Given the description of an element on the screen output the (x, y) to click on. 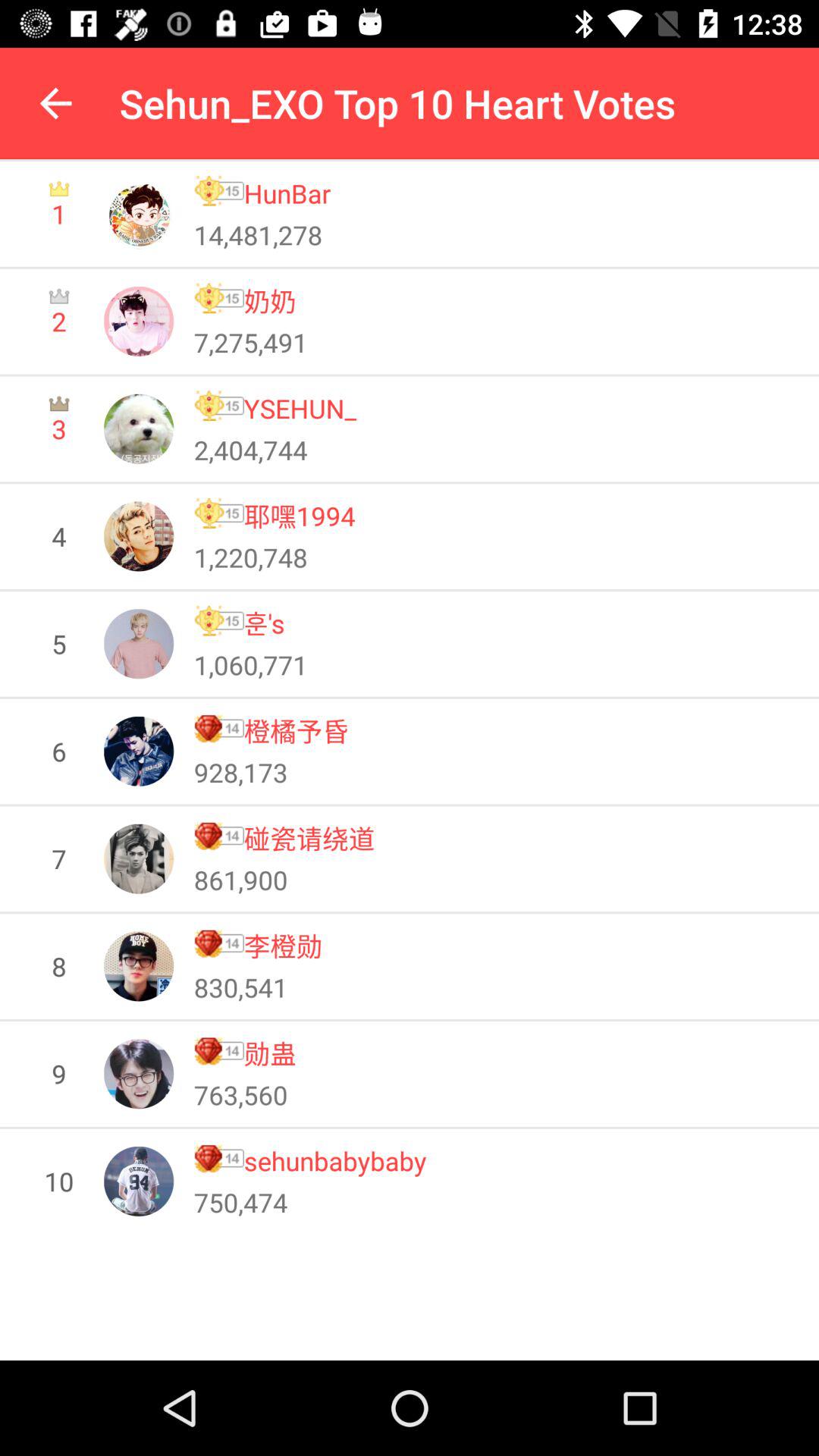
press icon below sehunbabybaby icon (240, 1201)
